Given the description of an element on the screen output the (x, y) to click on. 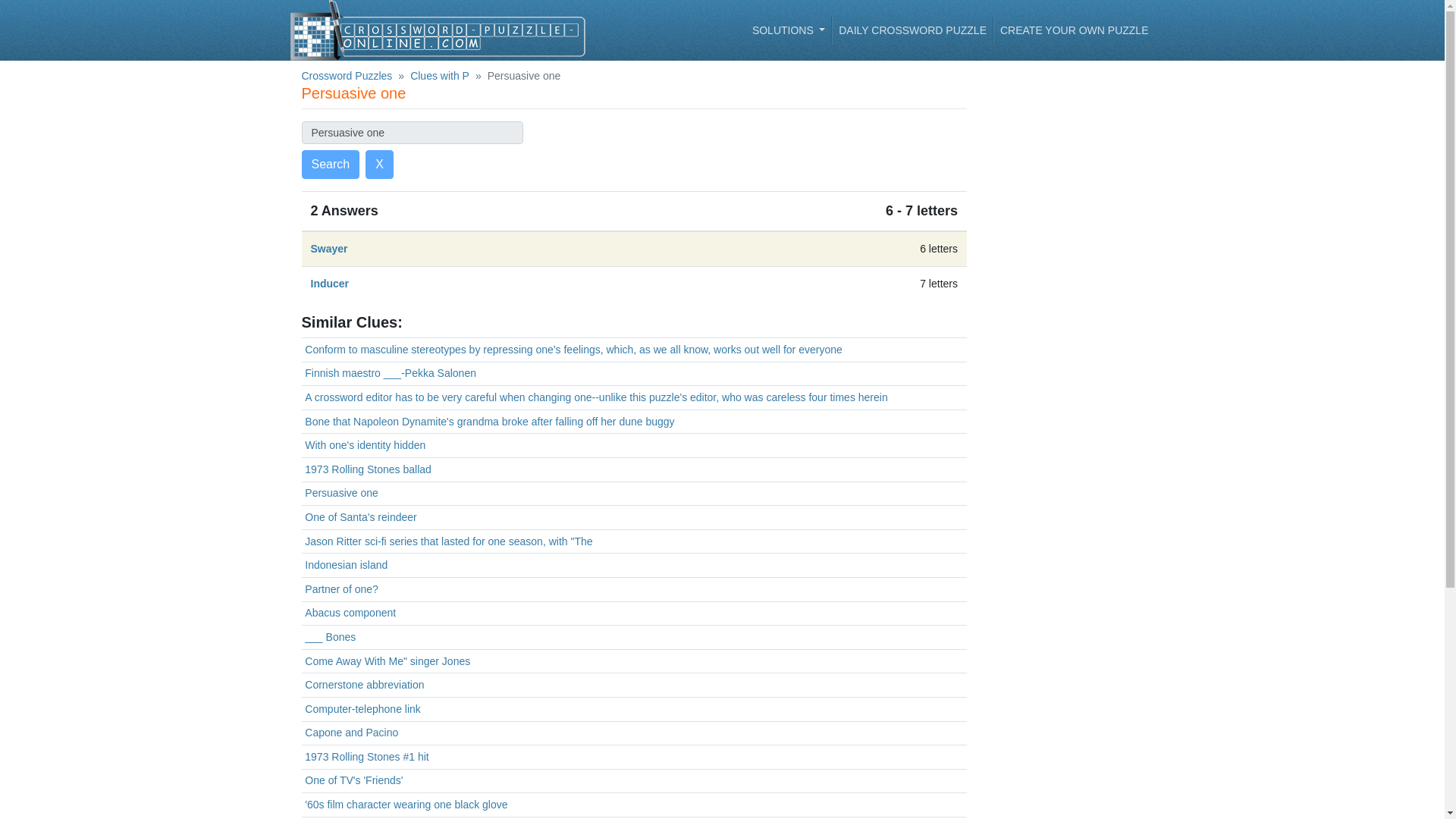
X (379, 164)
'60s film character wearing one black glove (405, 804)
Swayer (329, 248)
Indonesian island (345, 564)
Computer-telephone link (362, 708)
SOLUTIONS (788, 30)
Persuasive one (411, 132)
DAILY CROSSWORD PUZZLE (912, 30)
Search (330, 164)
Inducer (330, 283)
Crossword Puzzles (347, 75)
1973 Rolling Stones ballad (367, 469)
Cornerstone abbreviation (363, 684)
Persuasive one (341, 492)
